Given the description of an element on the screen output the (x, y) to click on. 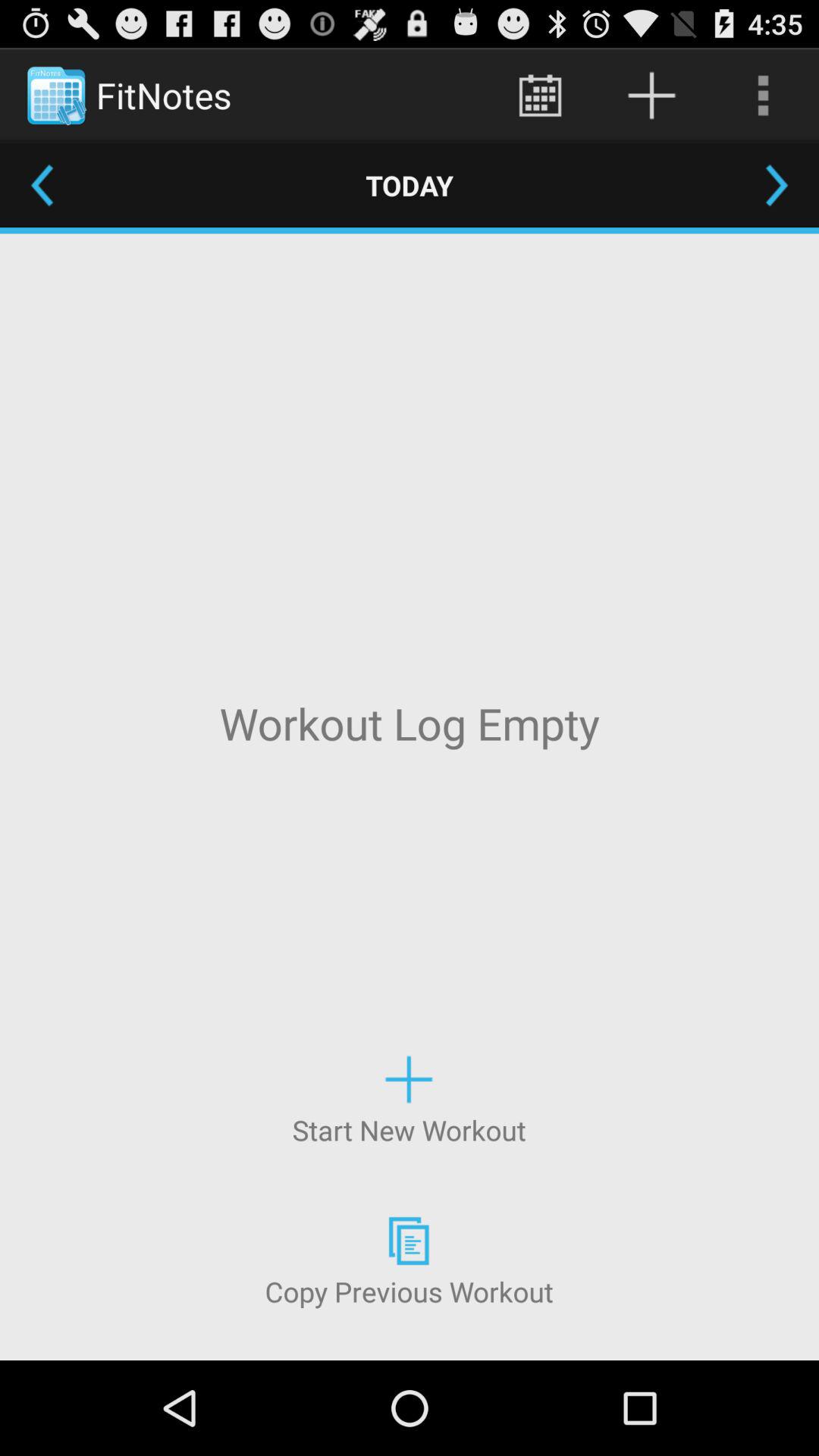
launch copy previous workout item (408, 1259)
